Given the description of an element on the screen output the (x, y) to click on. 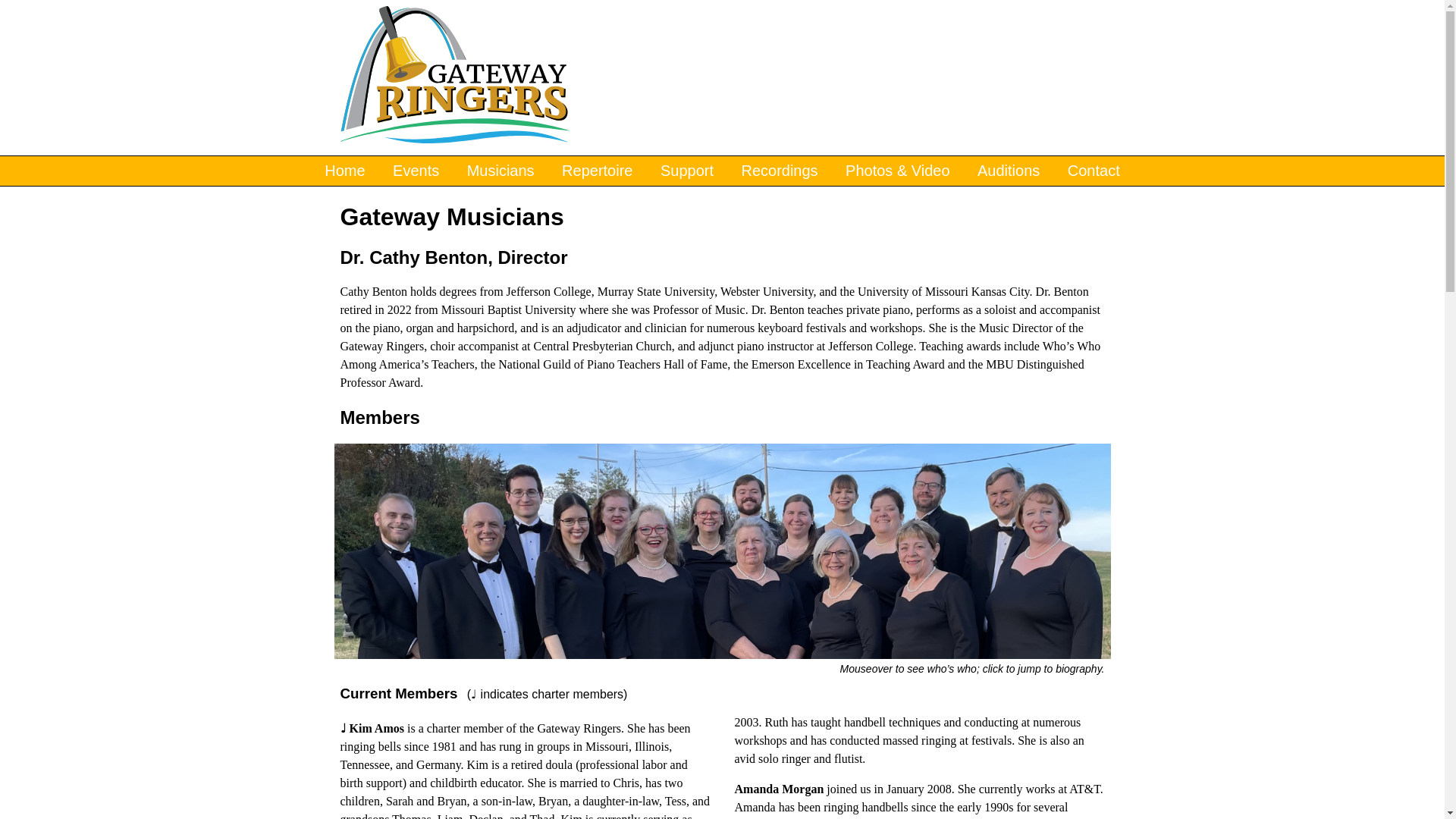
Auditions (1008, 170)
Home (454, 75)
Musicians (500, 170)
Recordings (779, 170)
Events (415, 170)
Contact (1093, 170)
Repertoire (597, 170)
Support (686, 170)
Home (345, 170)
